Given the description of an element on the screen output the (x, y) to click on. 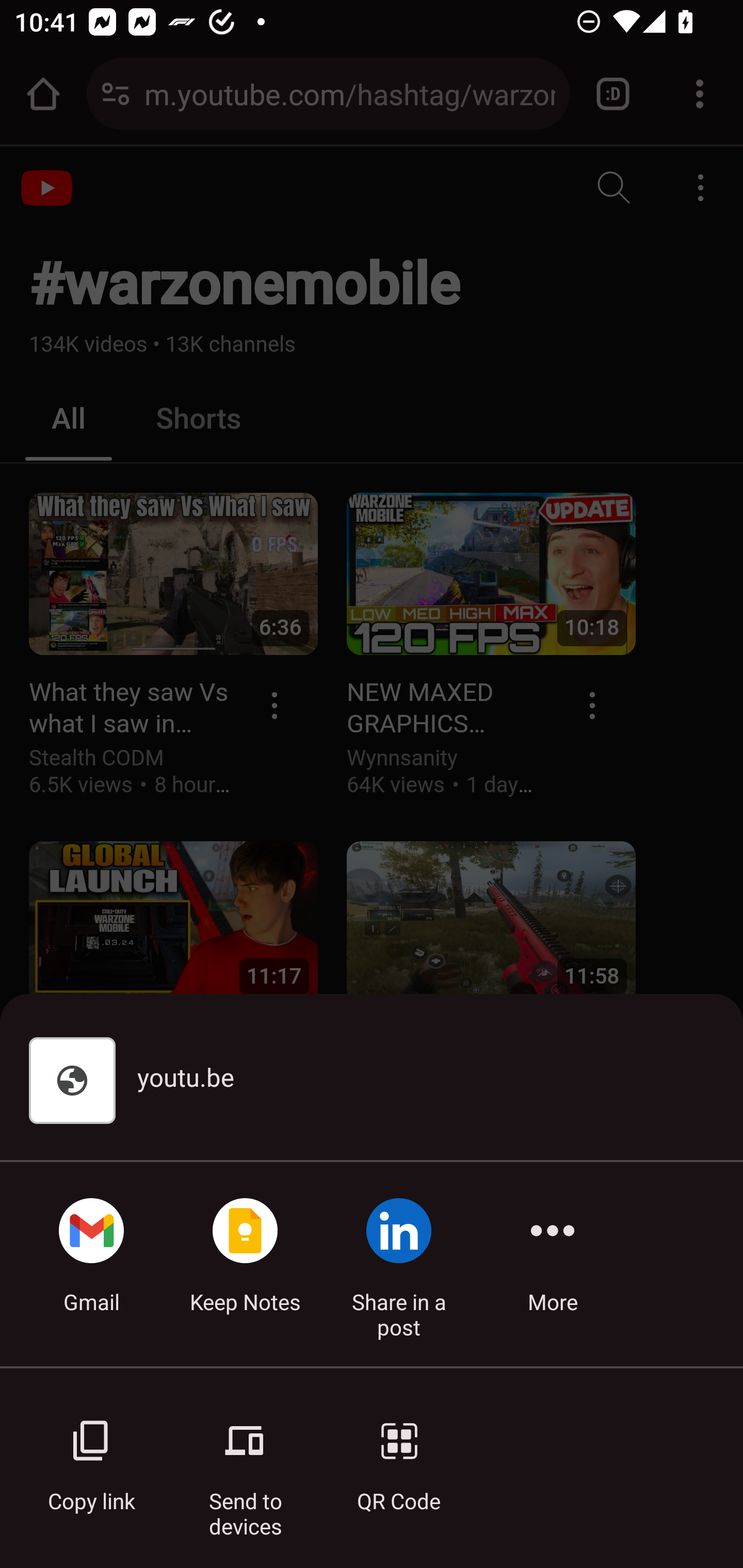
Gmail (90, 1263)
Keep Notes (244, 1263)
Share in a post (398, 1263)
More (552, 1263)
Copy link (90, 1454)
Send to devices (244, 1454)
QR Code (398, 1454)
